Given the description of an element on the screen output the (x, y) to click on. 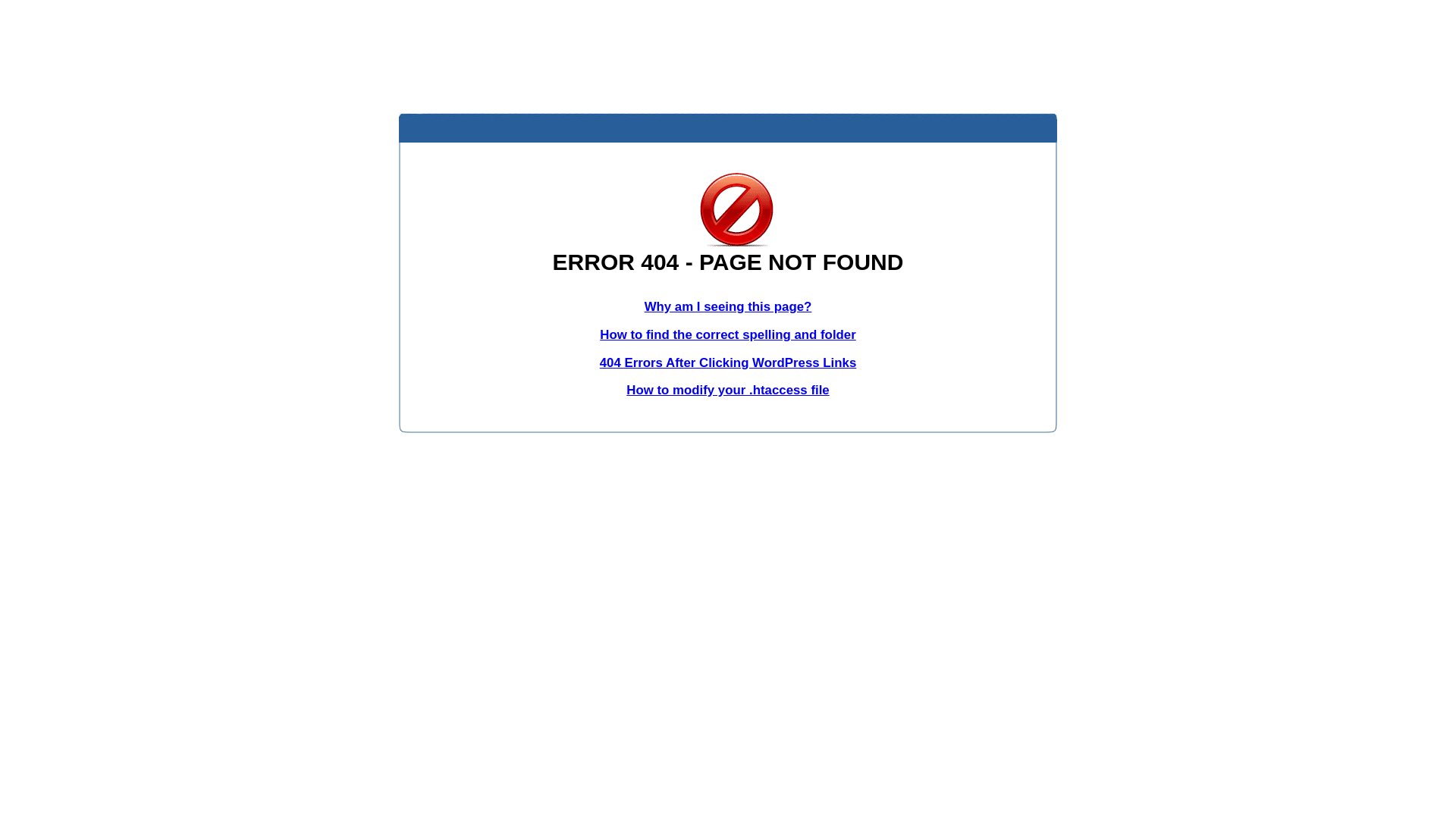
404 Errors After Clicking WordPress Links Element type: text (727, 362)
How to modify your .htaccess file Element type: text (727, 389)
Why am I seeing this page? Element type: text (728, 306)
How to find the correct spelling and folder Element type: text (727, 334)
